Given the description of an element on the screen output the (x, y) to click on. 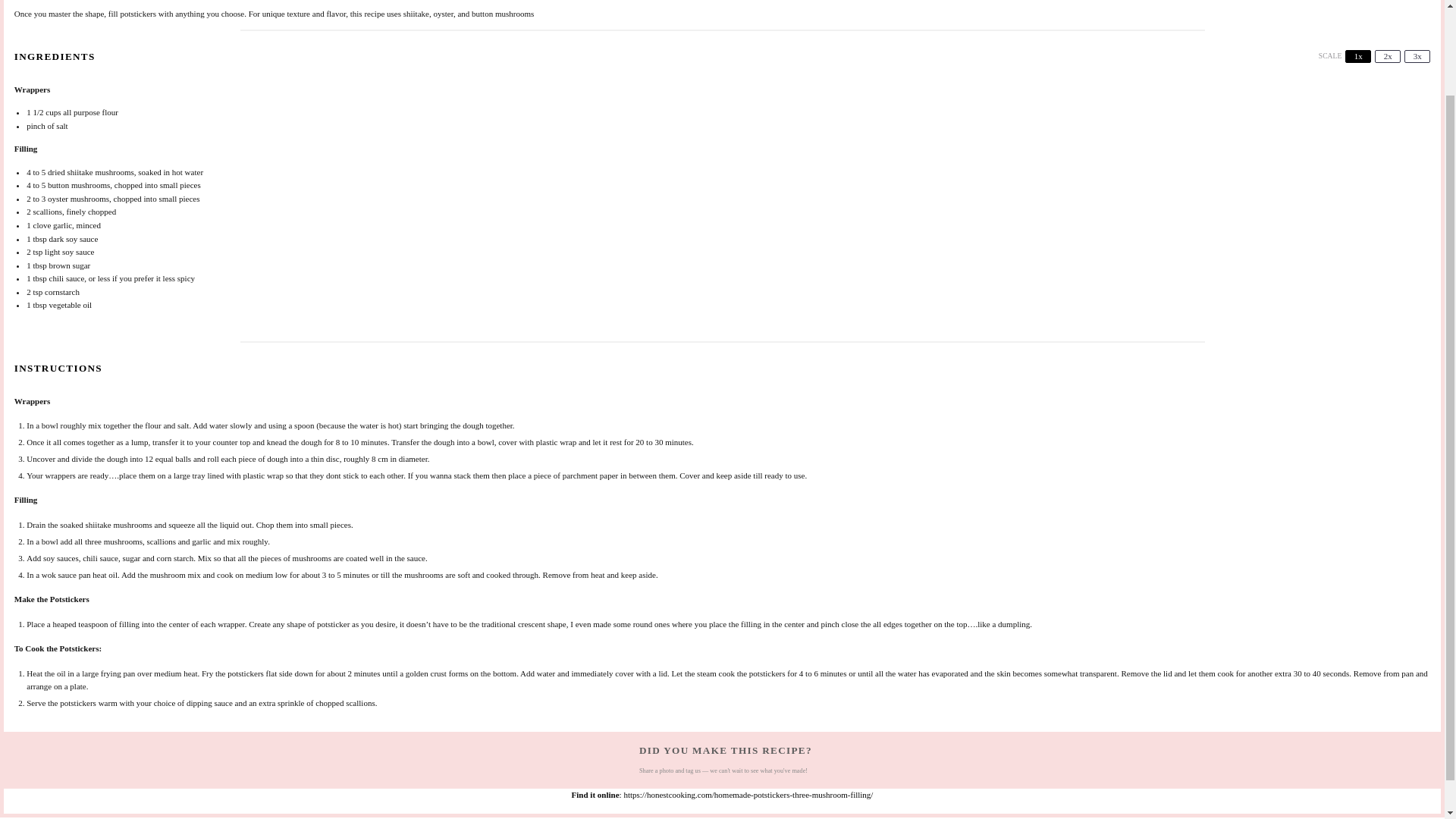
1x (1358, 56)
3x (1417, 56)
2x (1387, 56)
